Given the description of an element on the screen output the (x, y) to click on. 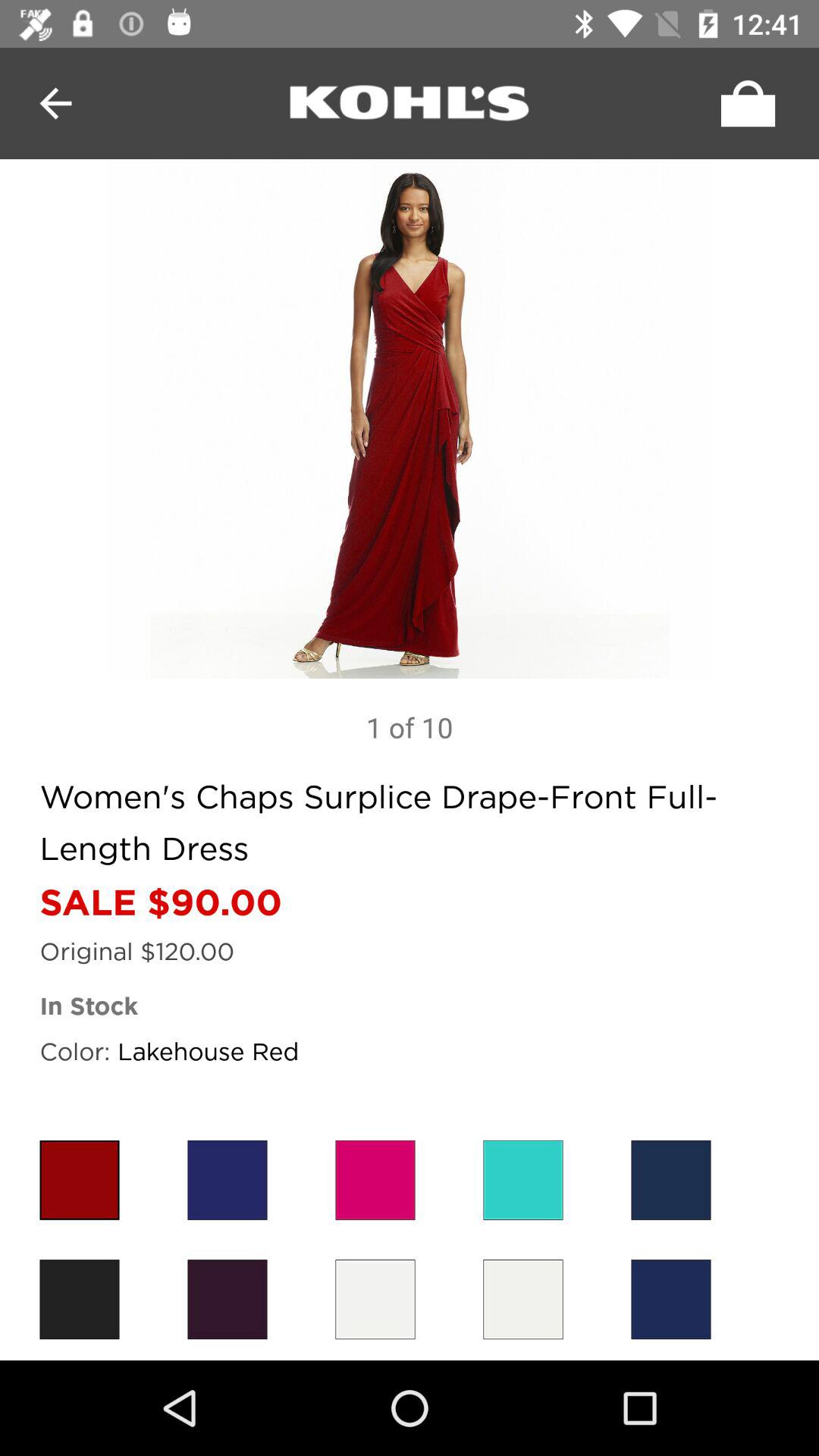
dress color violet (227, 1299)
